Given the description of an element on the screen output the (x, y) to click on. 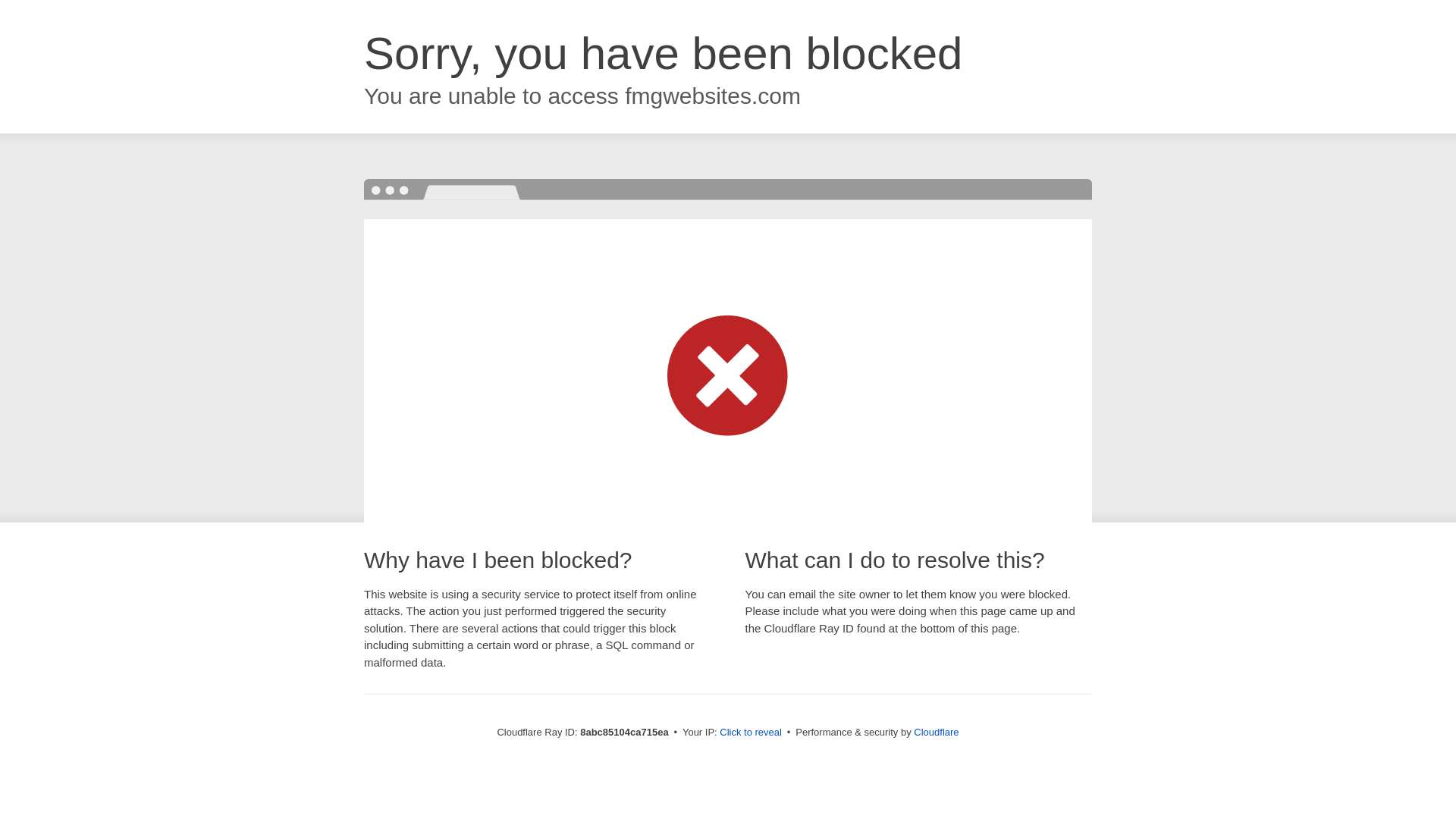
Cloudflare (936, 731)
Click to reveal (750, 732)
